Given the description of an element on the screen output the (x, y) to click on. 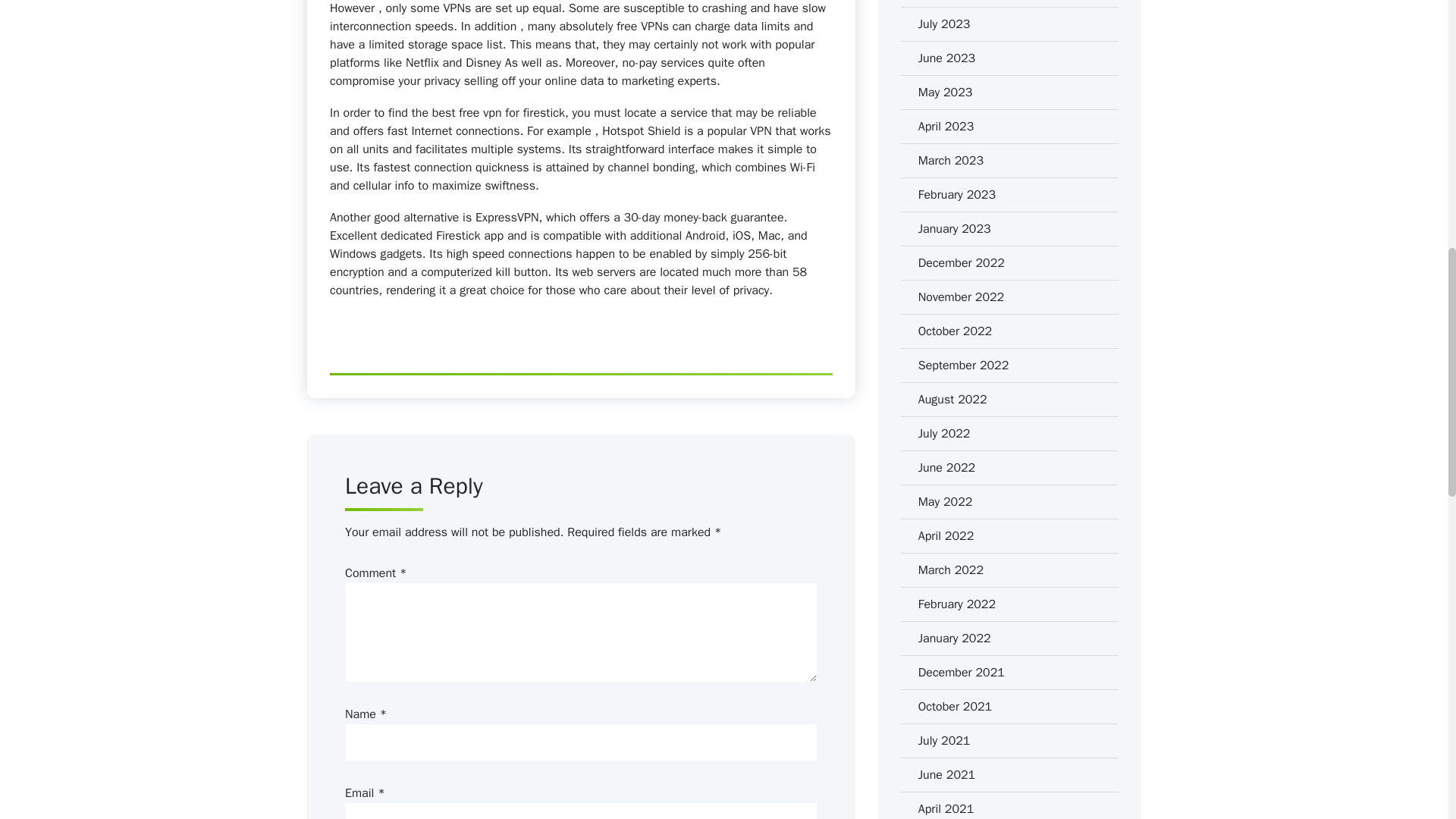
April 2023 (946, 126)
July 2023 (944, 24)
June 2023 (946, 58)
August 2022 (952, 399)
November 2022 (961, 297)
February 2023 (956, 194)
December 2022 (961, 262)
July 2022 (944, 434)
October 2022 (954, 331)
September 2022 (963, 365)
